Given the description of an element on the screen output the (x, y) to click on. 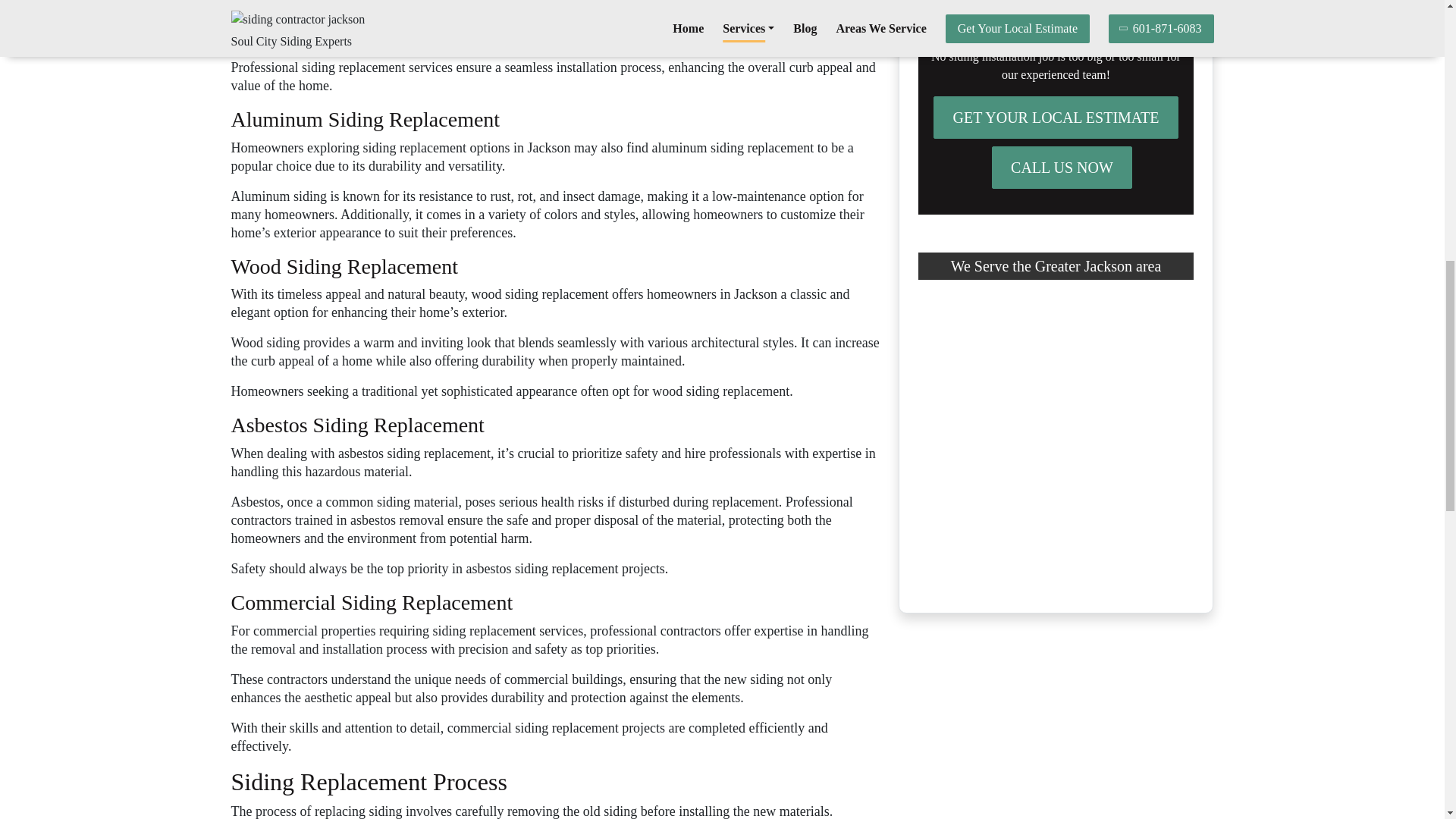
GET YOUR LOCAL ESTIMATE (1055, 117)
CALL US NOW (1061, 167)
